Given the description of an element on the screen output the (x, y) to click on. 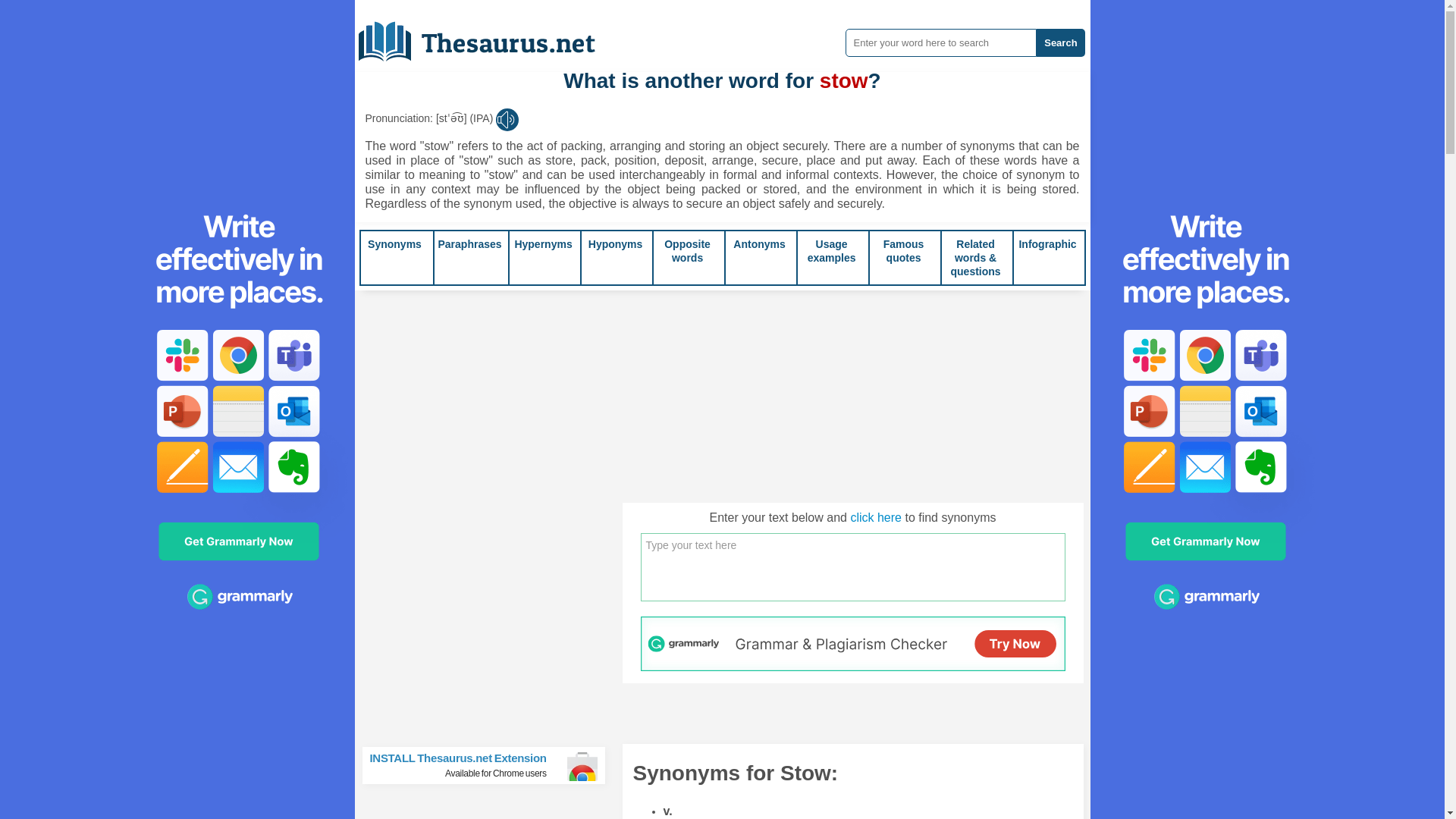
Opposite words (489, 764)
Hyponyms (686, 250)
Hypernyms (615, 244)
Usage examples (542, 244)
Search (832, 250)
Hypernyms (1060, 42)
Thesaurus.net (542, 244)
Paraphrases (487, 35)
Opposite words (470, 244)
Synonyms (686, 250)
Famous quotes (395, 244)
Famous quotes (903, 250)
Antonyms (903, 250)
Usage examples (758, 244)
